Given the description of an element on the screen output the (x, y) to click on. 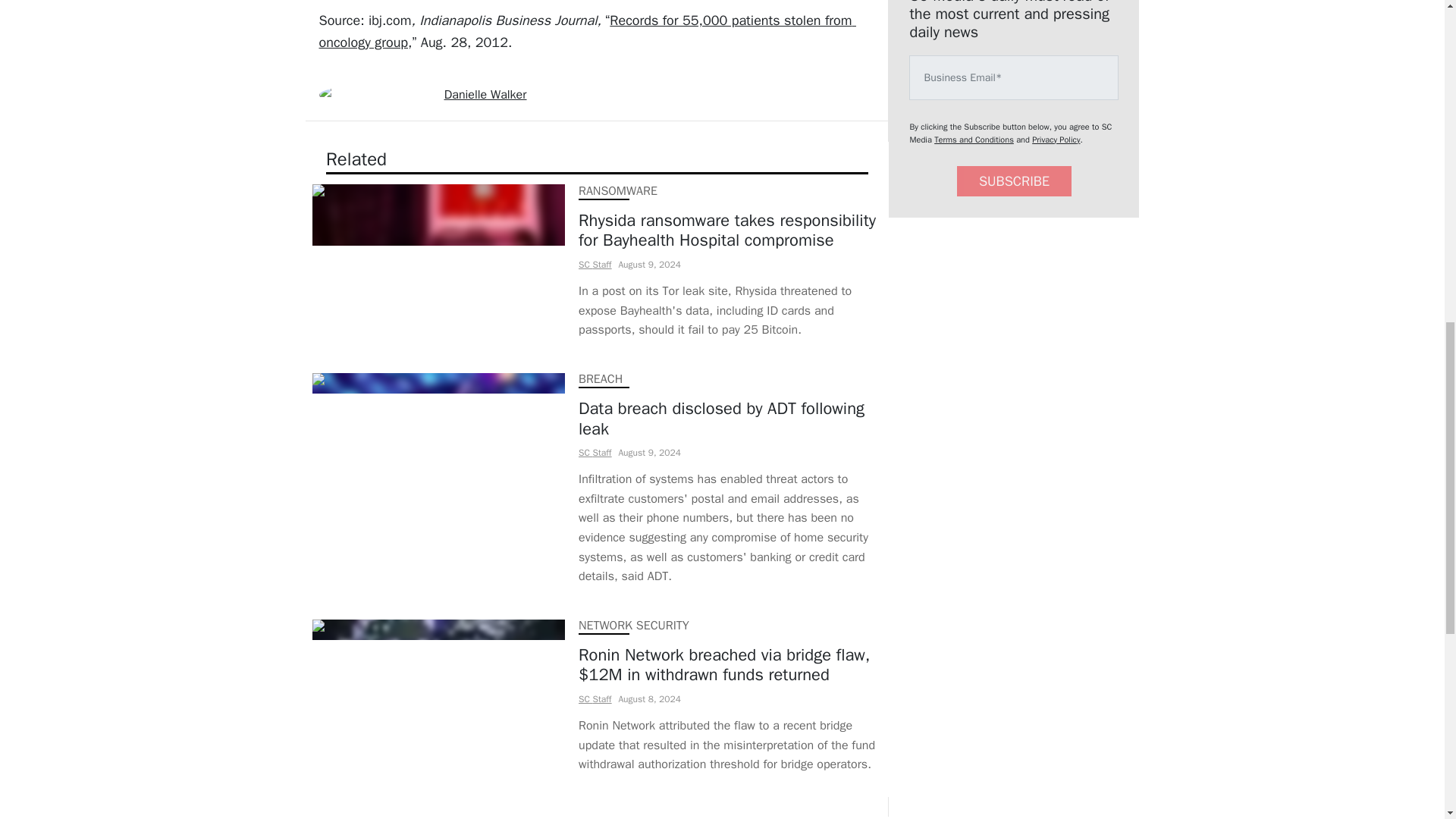
Danielle Walker (485, 94)
Records for 55,000 patients stolen from oncology group (587, 31)
RANSOMWARE (617, 191)
SC Staff (594, 264)
Terms and Conditions (973, 139)
NETWORK SECURITY (633, 625)
SC Staff (594, 698)
Data breach disclosed by ADT following leak (729, 418)
BREACH (599, 378)
